Given the description of an element on the screen output the (x, y) to click on. 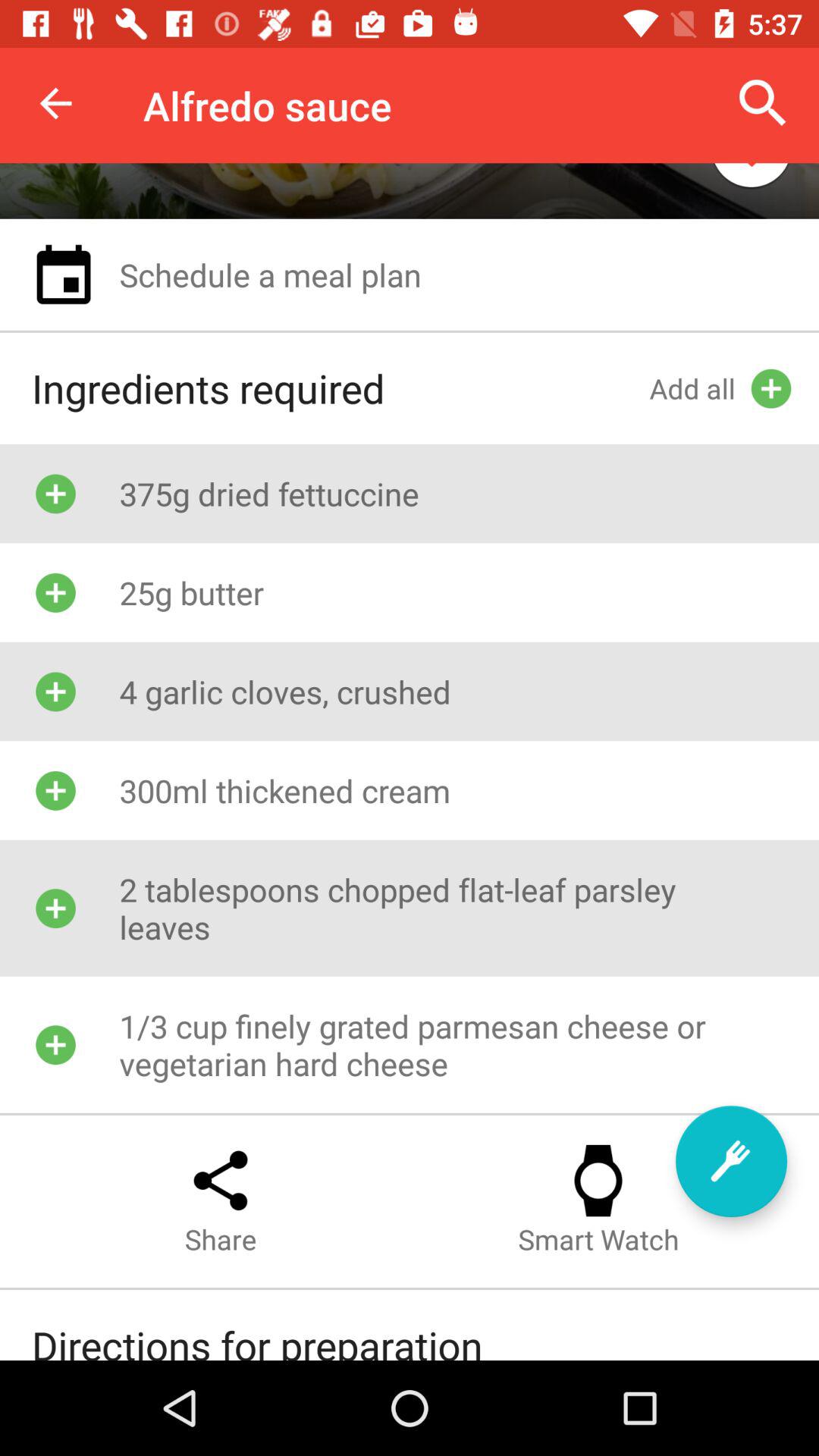
turn on item to the left of the alfredo sauce item (55, 103)
